Given the description of an element on the screen output the (x, y) to click on. 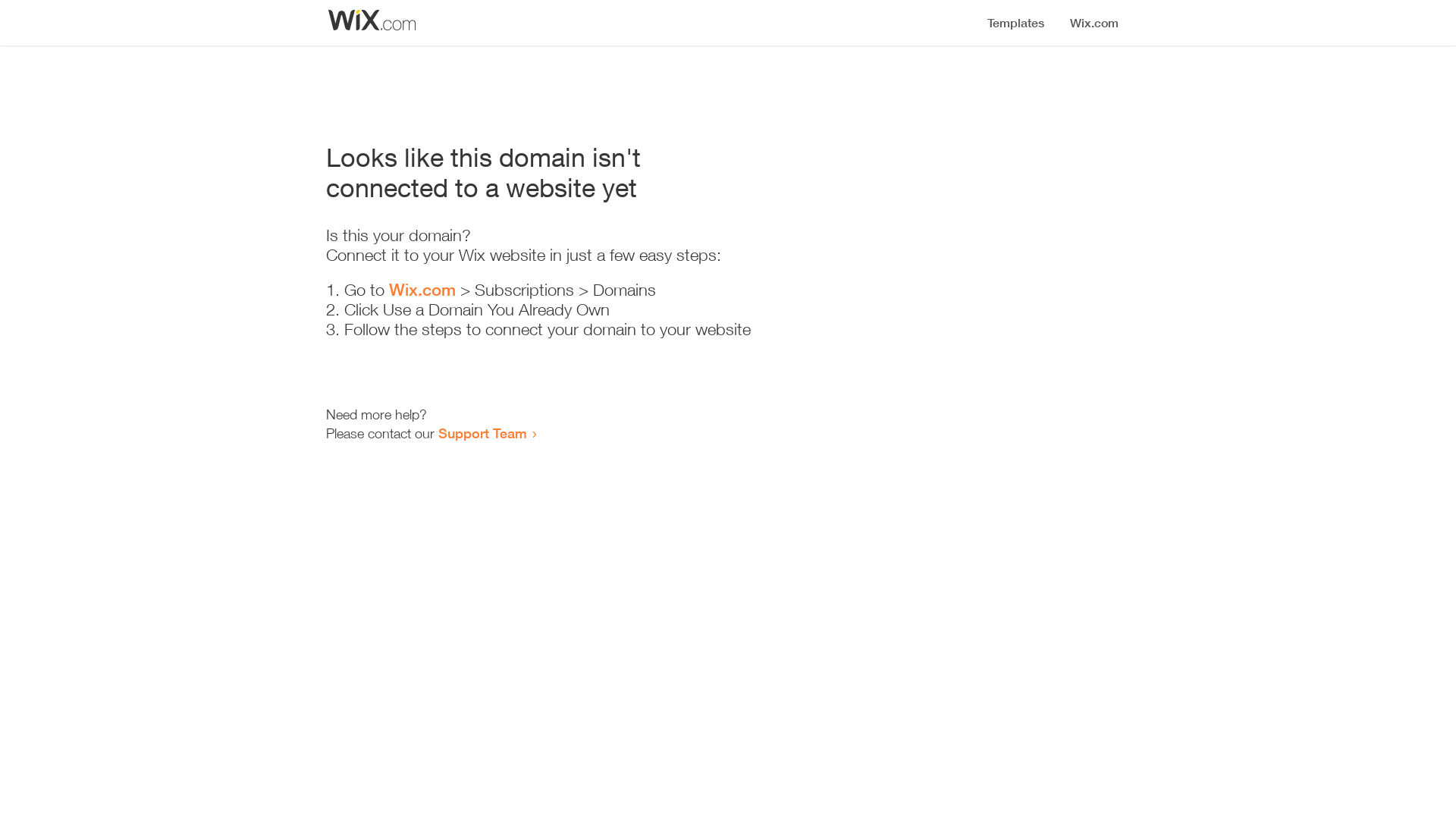
Support Team Element type: text (482, 432)
Wix.com Element type: text (422, 289)
